Given the description of an element on the screen output the (x, y) to click on. 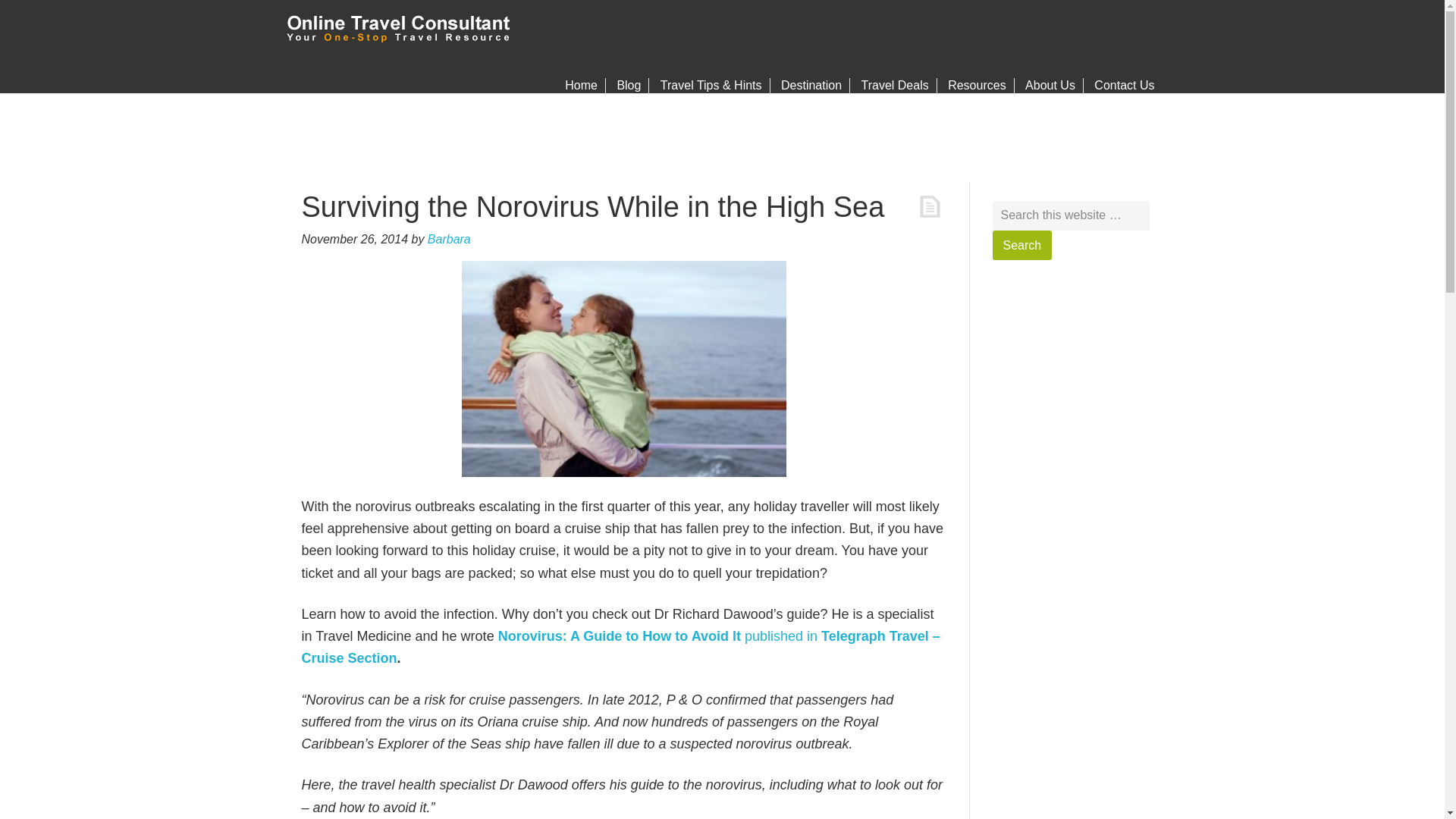
Barbara (449, 237)
Resources (976, 85)
About Us (1050, 85)
Blog (628, 85)
Online Travel Consultant (399, 34)
Home (581, 85)
Contact Us (1123, 85)
Travel Deals (894, 85)
Destination (811, 85)
Search (1021, 245)
